Given the description of an element on the screen output the (x, y) to click on. 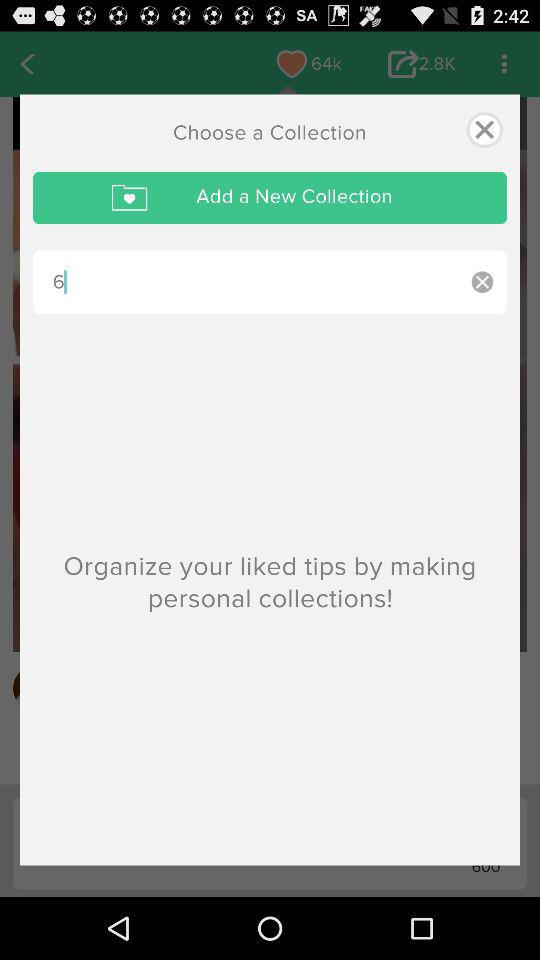
turn off item above the organize your liked icon (482, 281)
